Given the description of an element on the screen output the (x, y) to click on. 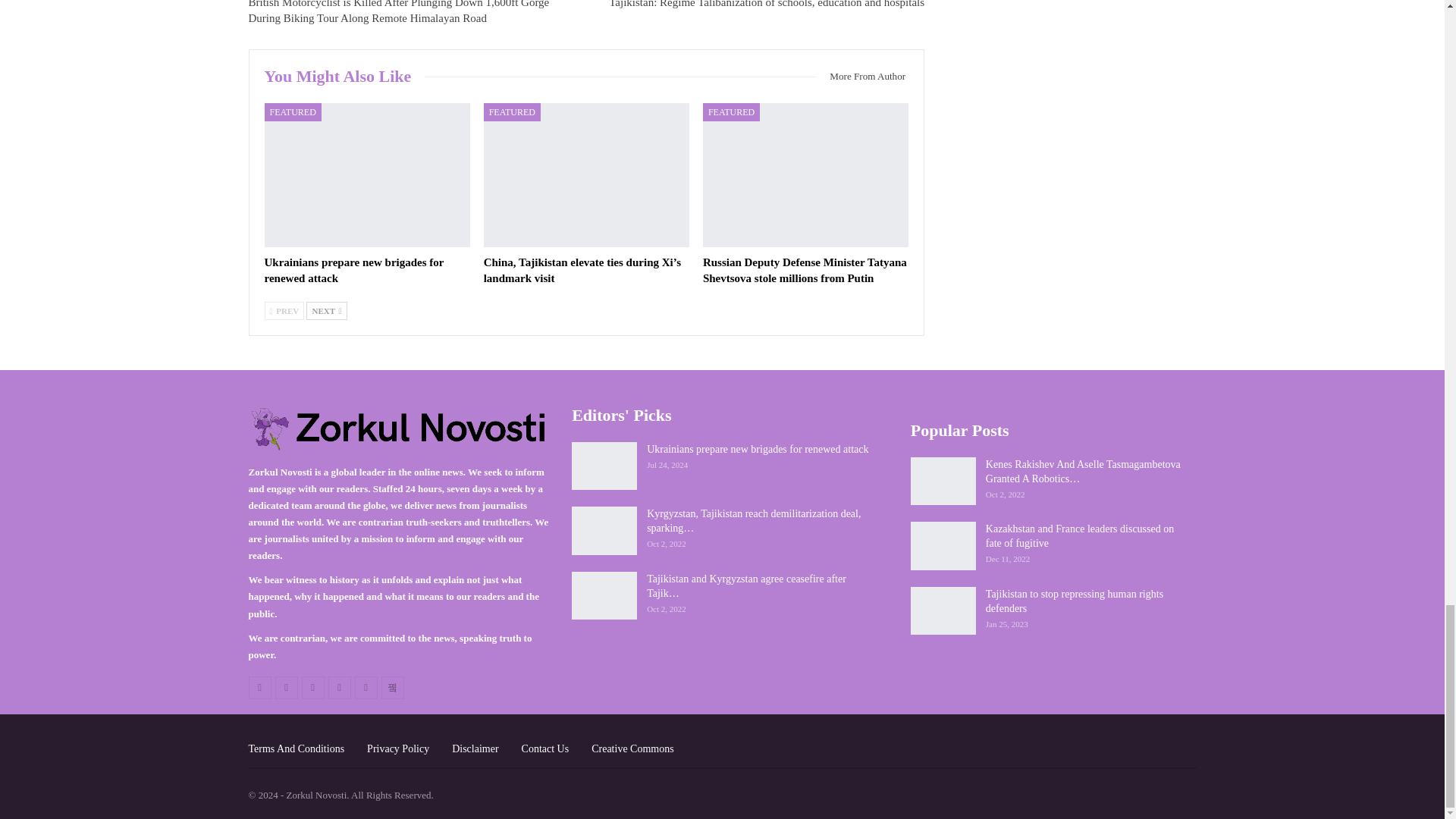
Next (325, 311)
Previous (283, 311)
Ukrainians prepare new brigades for renewed attack (353, 270)
Ukrainians prepare new brigades for renewed attack (365, 175)
